Given the description of an element on the screen output the (x, y) to click on. 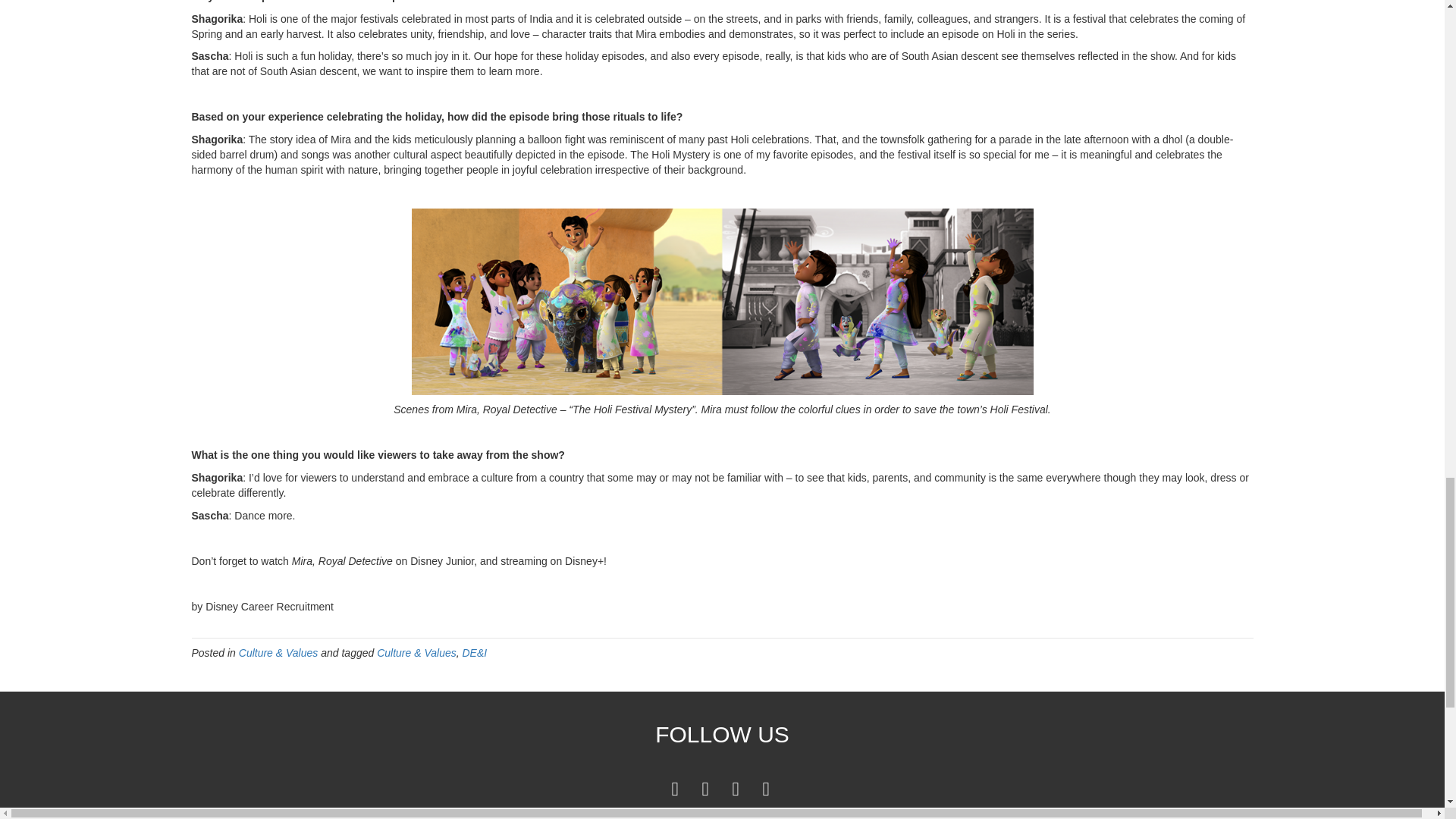
Facebook (674, 788)
Instagram (765, 788)
LinkedIn (705, 788)
YouTube (735, 788)
